Given the description of an element on the screen output the (x, y) to click on. 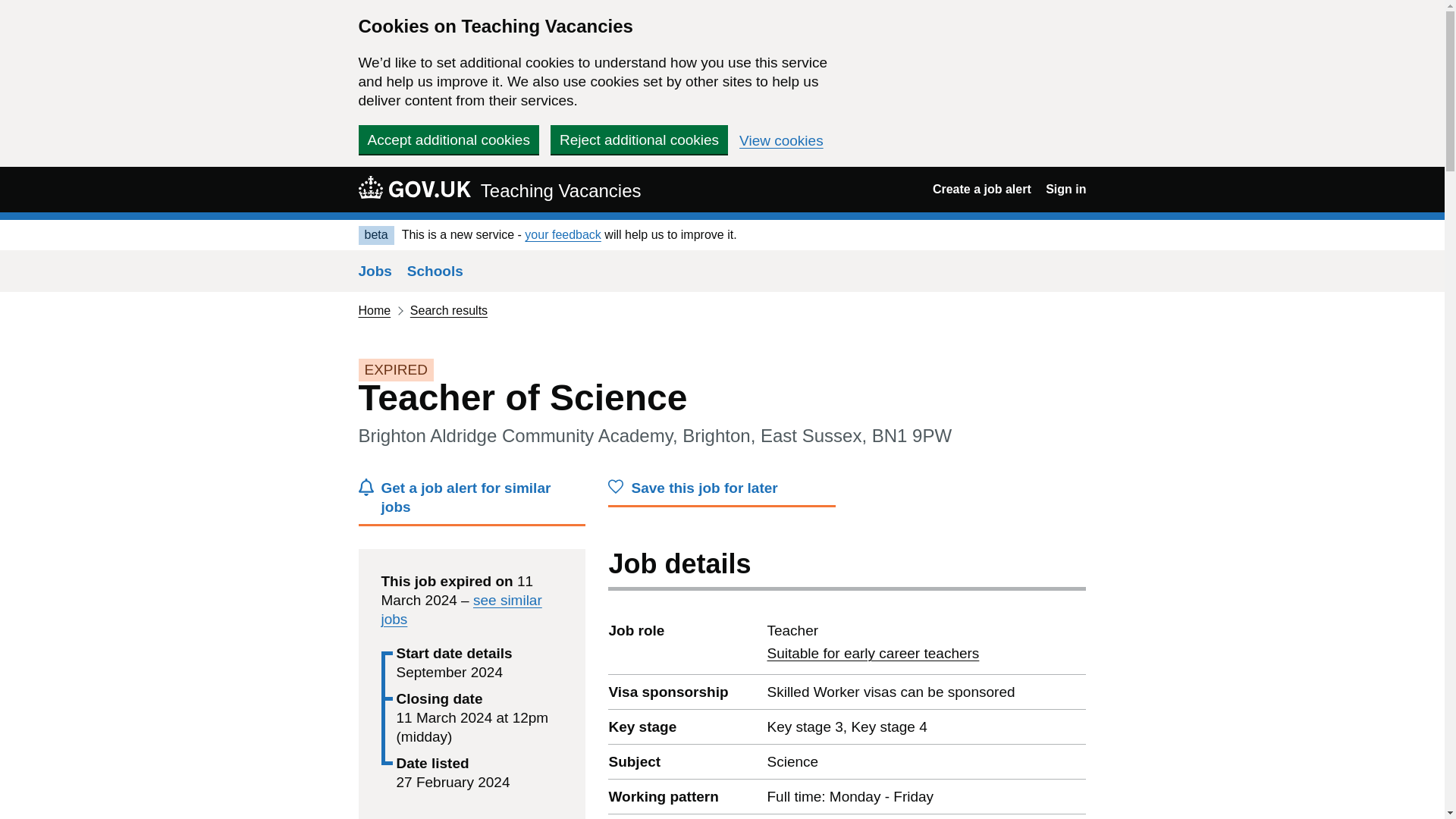
Accept additional cookies (448, 139)
your feedback (562, 234)
Sign in (1065, 188)
Reject additional cookies (639, 139)
Create a job alert (981, 188)
GOV.UK (414, 187)
GOV.UK Teaching Vacancies (499, 188)
View cookies (781, 140)
Schools (872, 652)
Home (435, 270)
Get a job alert for similar jobs (374, 309)
see similar jobs (471, 501)
Save this job for later (460, 609)
